Given the description of an element on the screen output the (x, y) to click on. 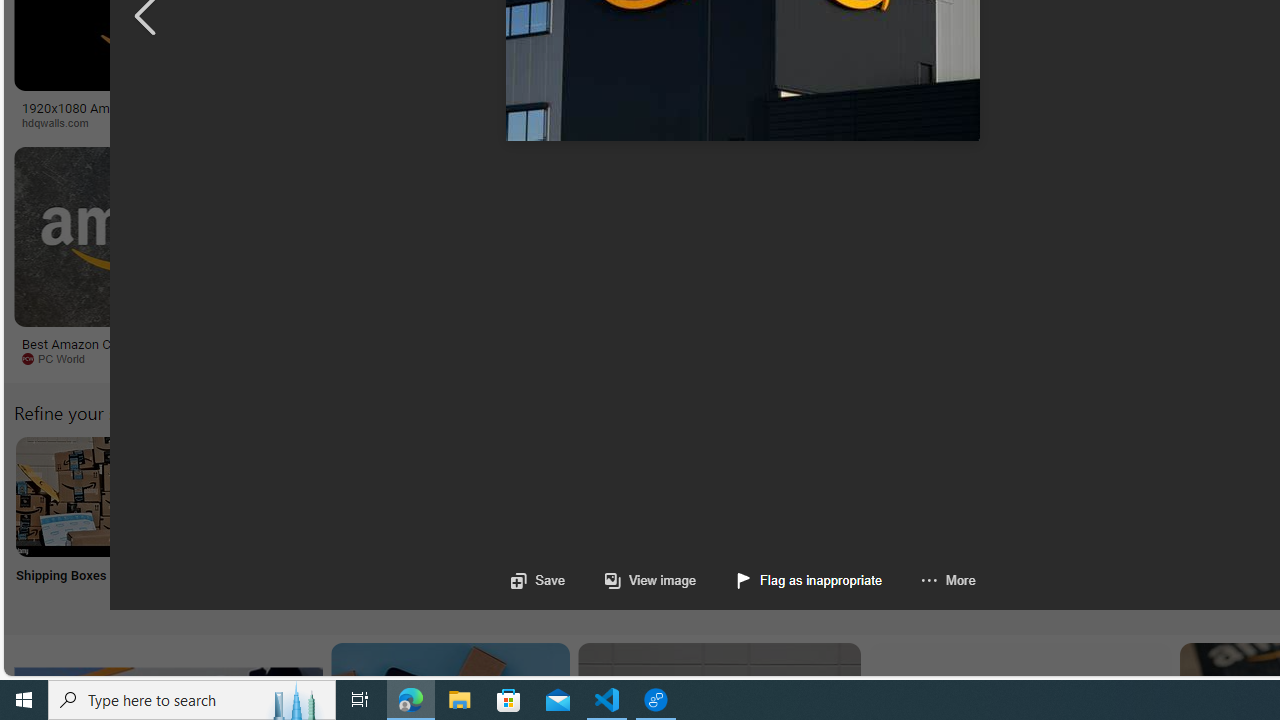
Long Island Press (1043, 121)
Amazon Clip Art (339, 496)
Amazon Shipping Boxes Shipping Boxes (75, 521)
The Verge (419, 359)
Amazon Log into My Account (472, 496)
Online Shopping Search (207, 521)
How Much Is Amazon's Net Worth? | GOBankingRates (485, 114)
Amazon Online Store (1131, 496)
Marketplace (807, 123)
Amazon Jobs Near Me (604, 496)
